Given the description of an element on the screen output the (x, y) to click on. 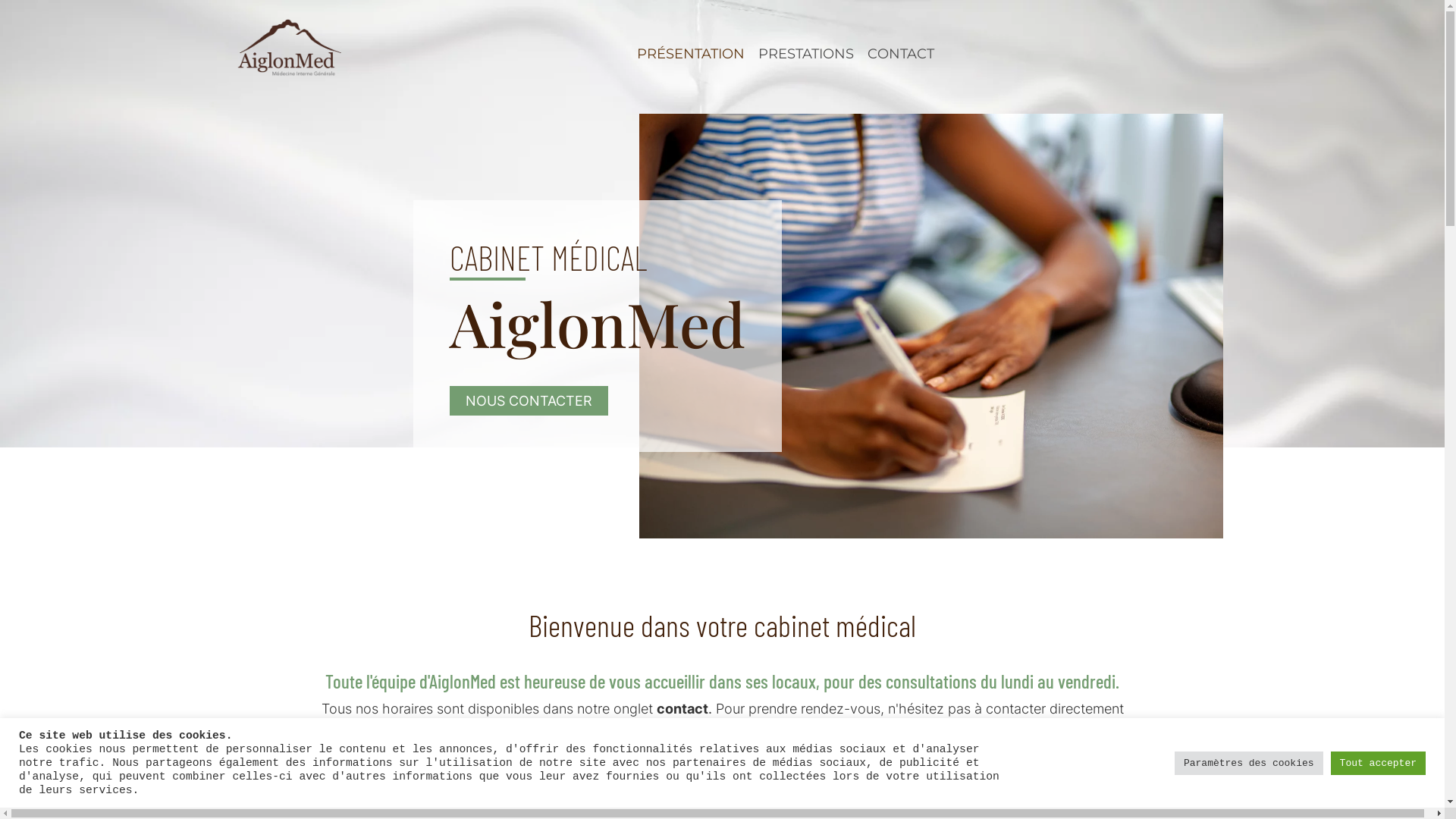
CONTACT Element type: text (900, 53)
Tout accepter Element type: text (1377, 762)
NOUS CONTACTER Element type: text (528, 400)
PRESTATIONS Element type: text (805, 53)
contact Element type: text (682, 708)
